Given the description of an element on the screen output the (x, y) to click on. 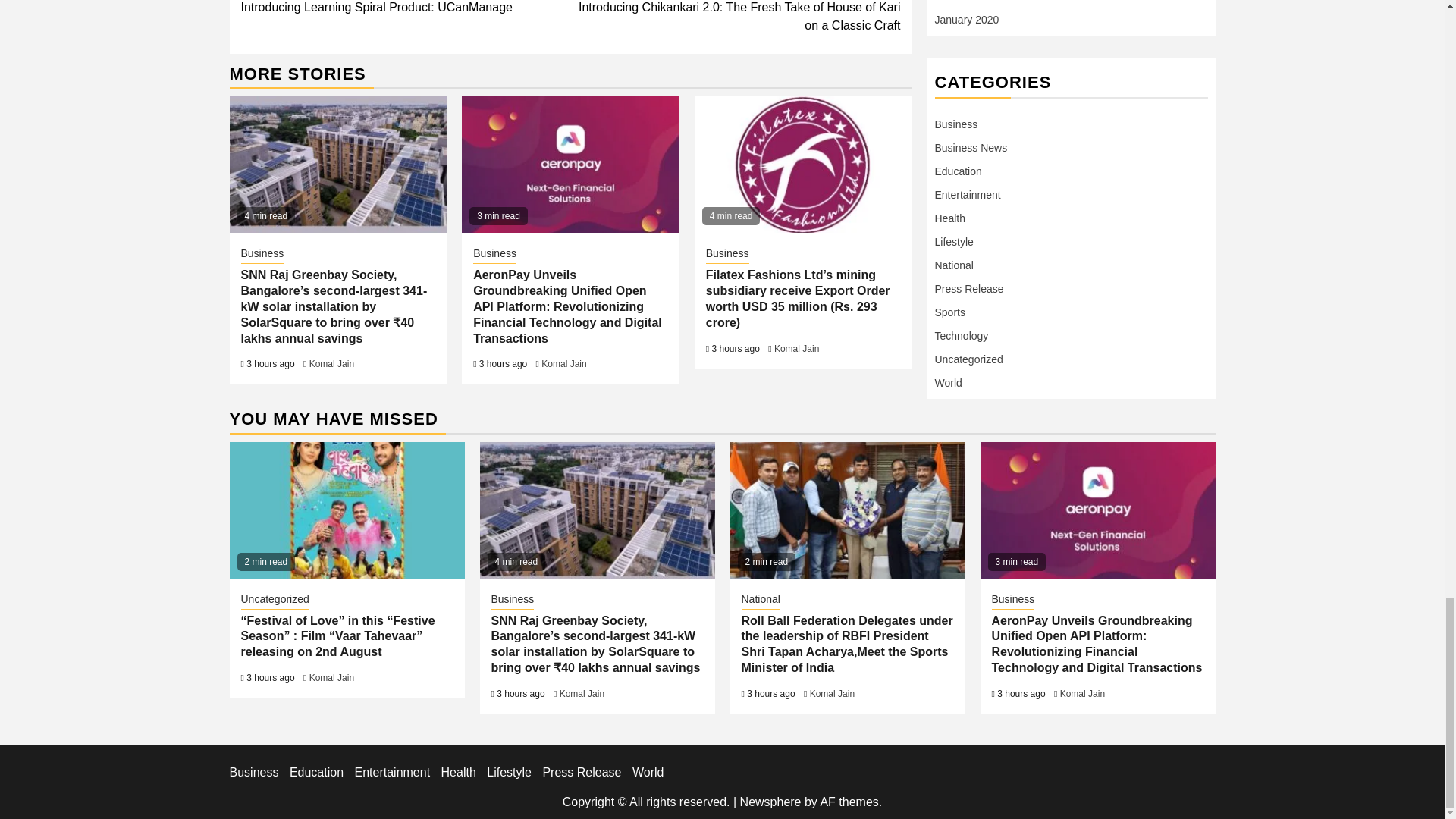
Business (262, 254)
Komal Jain (330, 363)
Komal Jain (796, 348)
Business (494, 254)
Komal Jain (563, 363)
Business (405, 8)
